Given the description of an element on the screen output the (x, y) to click on. 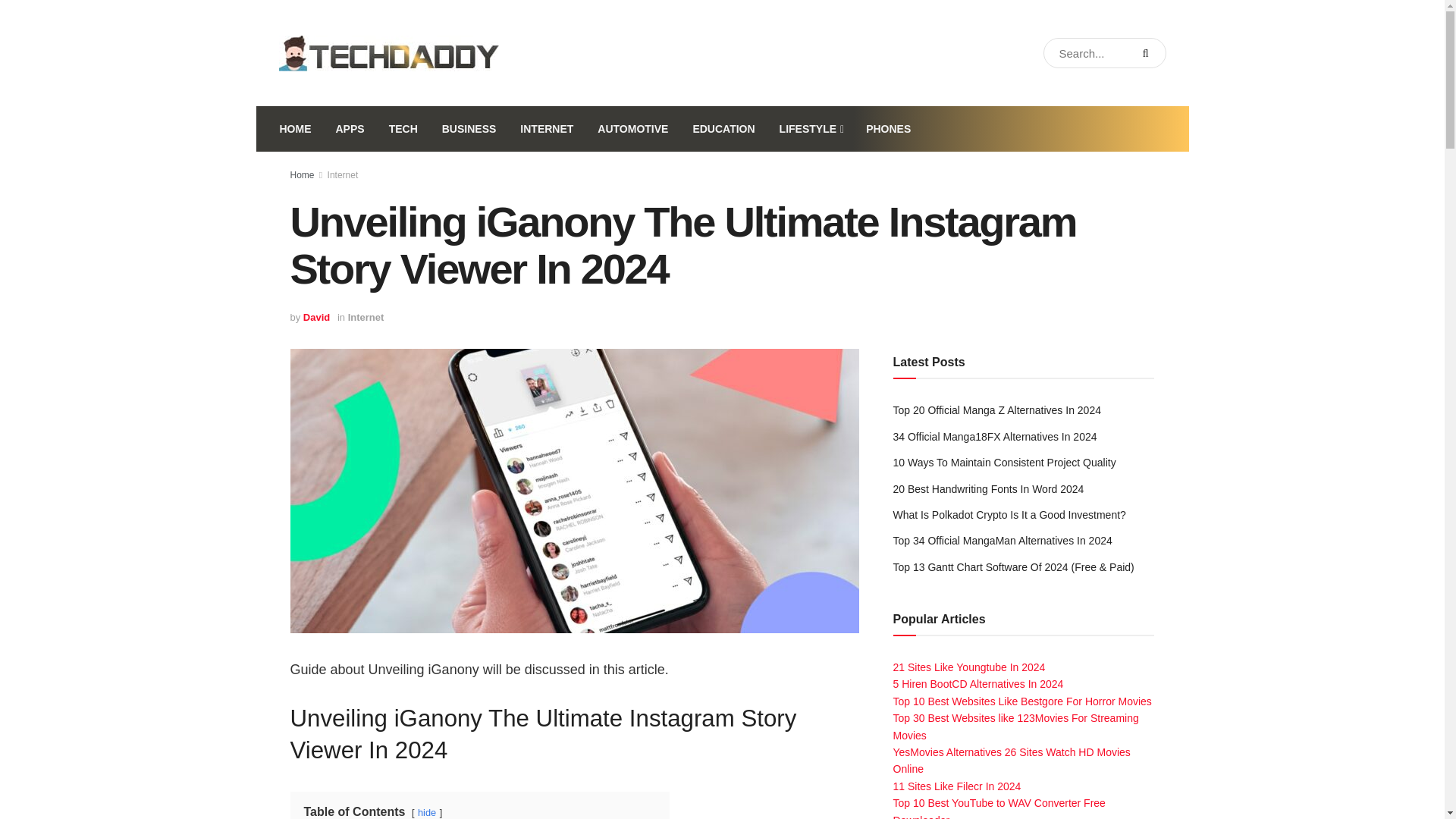
Internet (342, 174)
INTERNET (546, 128)
Home (301, 174)
APPS (349, 128)
LIFESTYLE (810, 128)
BUSINESS (468, 128)
HOME (294, 128)
AUTOMOTIVE (632, 128)
TECH (403, 128)
David (316, 317)
Internet (365, 317)
PHONES (888, 128)
EDUCATION (723, 128)
hide (426, 812)
